Given the description of an element on the screen output the (x, y) to click on. 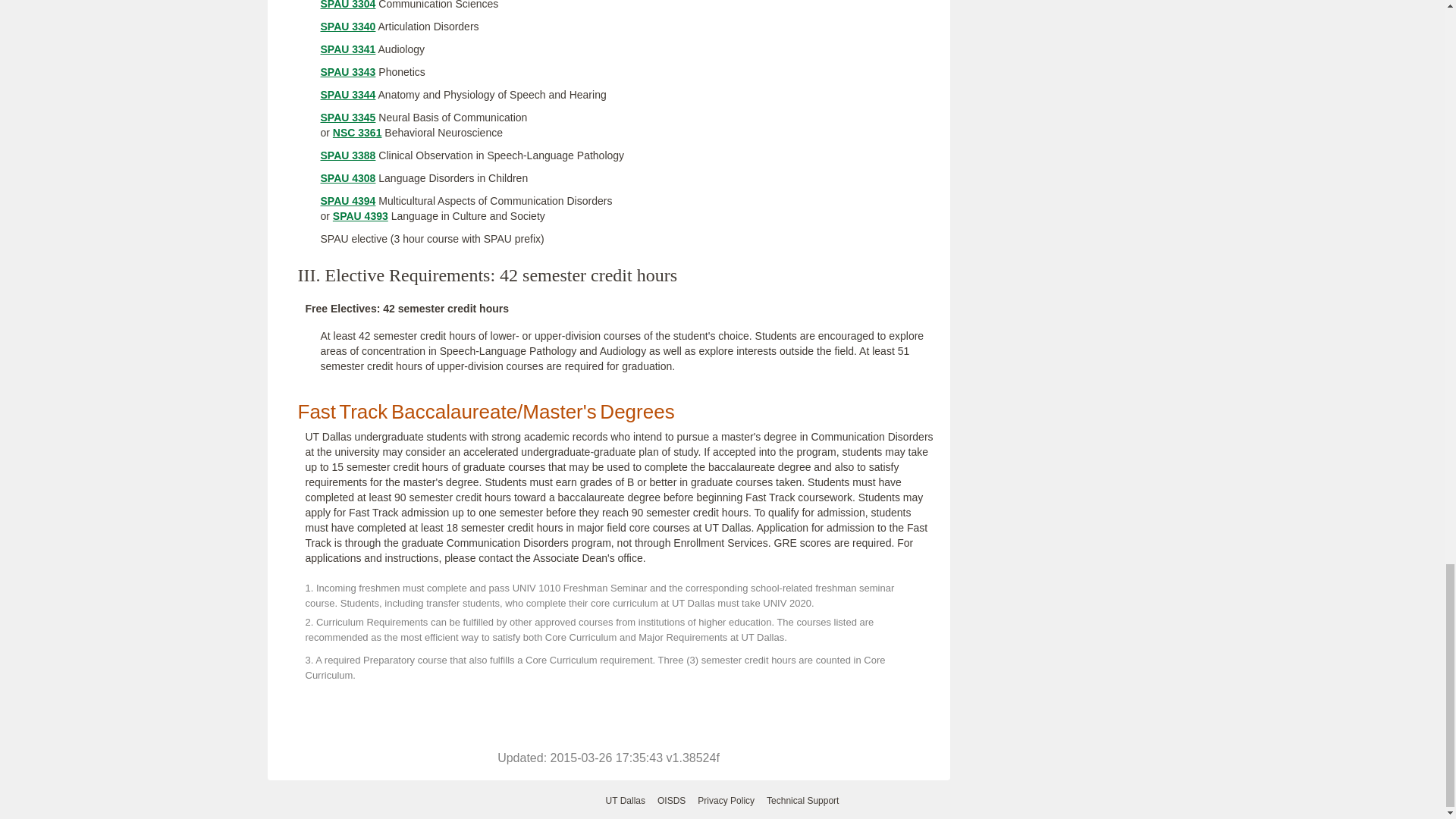
The University of Texas at Dallas (625, 800)
UT Dallas Privacy Policy (725, 800)
The Office of Institutional Success and Decision Support (671, 800)
